Given the description of an element on the screen output the (x, y) to click on. 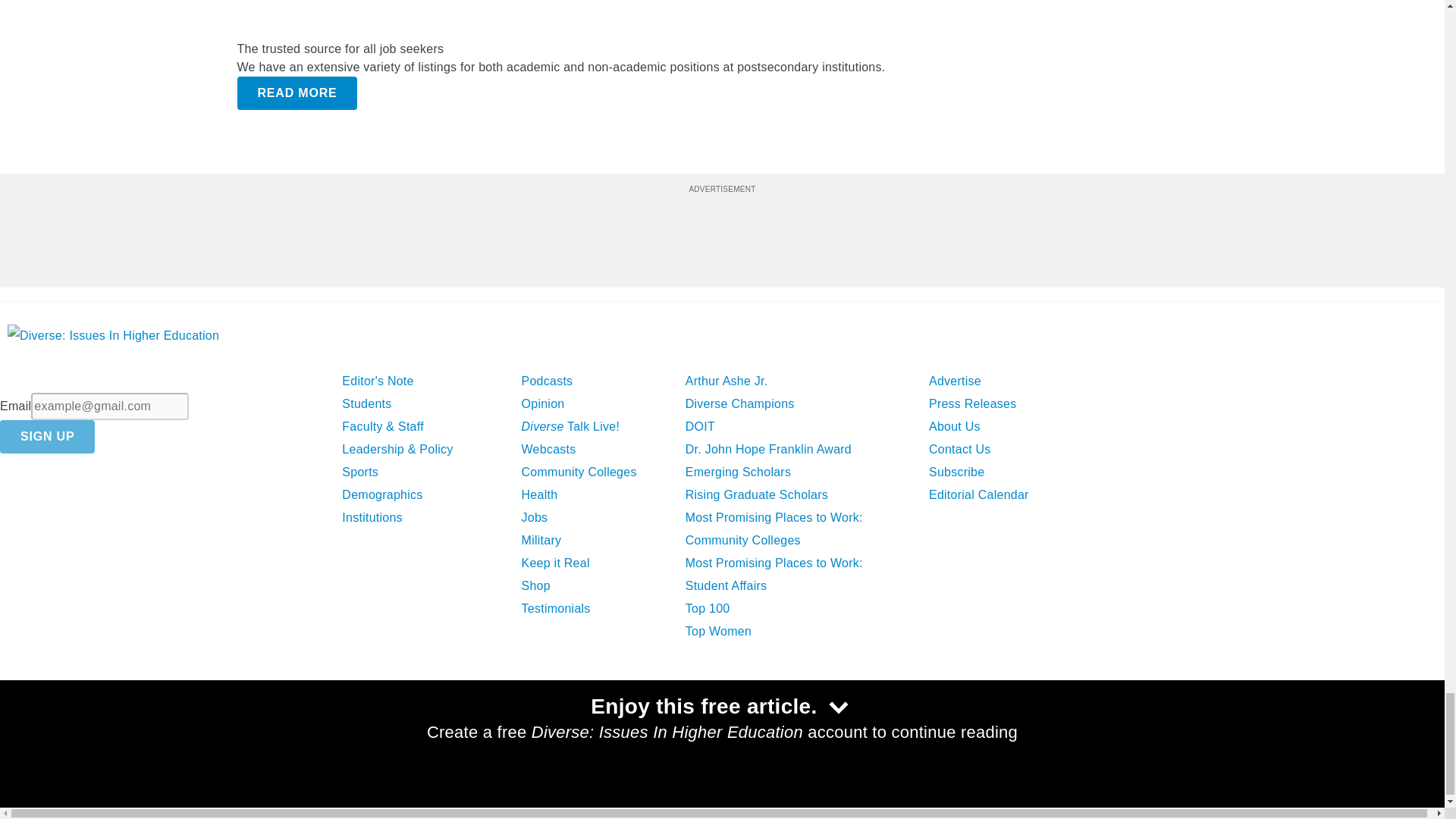
Instagram icon (179, 733)
YouTube icon (141, 733)
Facebook icon (20, 733)
Twitter X icon (60, 733)
LinkedIn icon (102, 733)
